Given the description of an element on the screen output the (x, y) to click on. 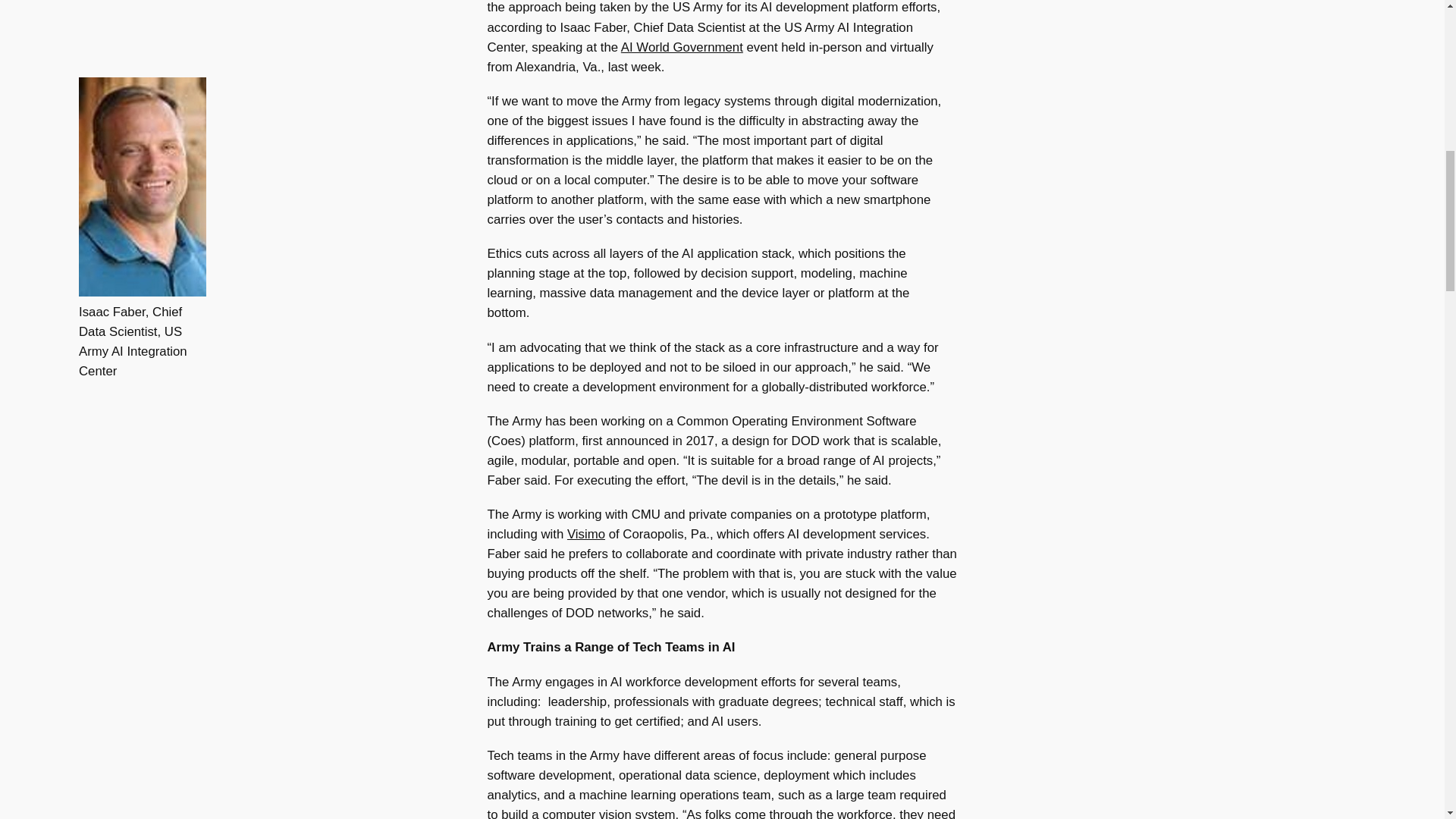
Visimo (586, 534)
AI World Government (681, 47)
